Given the description of an element on the screen output the (x, y) to click on. 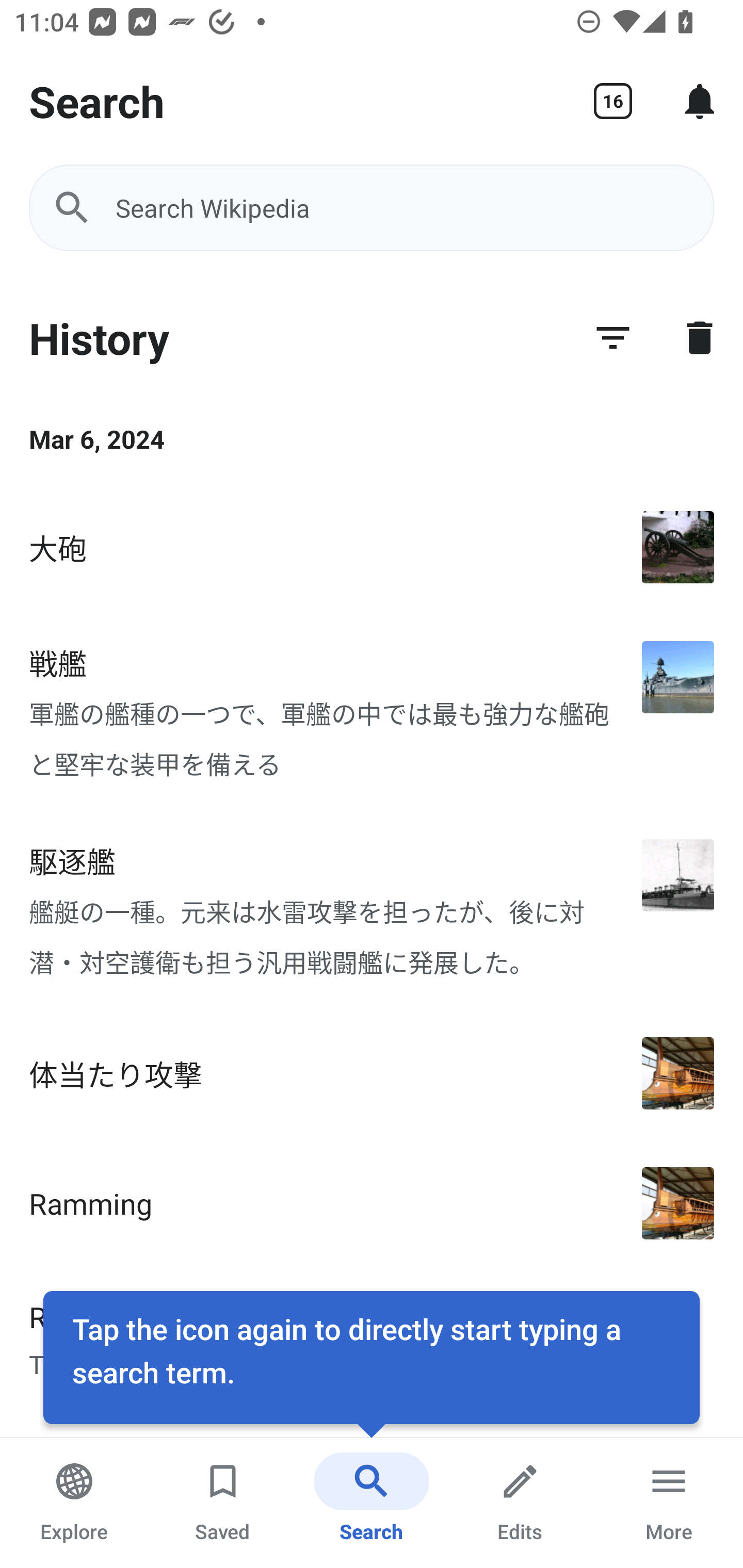
Show tabs 16 (612, 101)
Notifications (699, 101)
Search Wikipedia (371, 207)
Filter history (612, 337)
Clear history (699, 337)
大砲 Image: 大砲 (371, 546)
戦艦 軍艦の艦種の一つで、軍艦の中では最も強力な艦砲と堅牢な装甲を備える Image: 戦艦 (371, 710)
体当たり攻撃 Image: 体当たり攻撃 (371, 1073)
Ramming Image: Ramming (371, 1203)
Explore (74, 1502)
Saved (222, 1502)
Edits (519, 1502)
More (668, 1502)
